Given the description of an element on the screen output the (x, y) to click on. 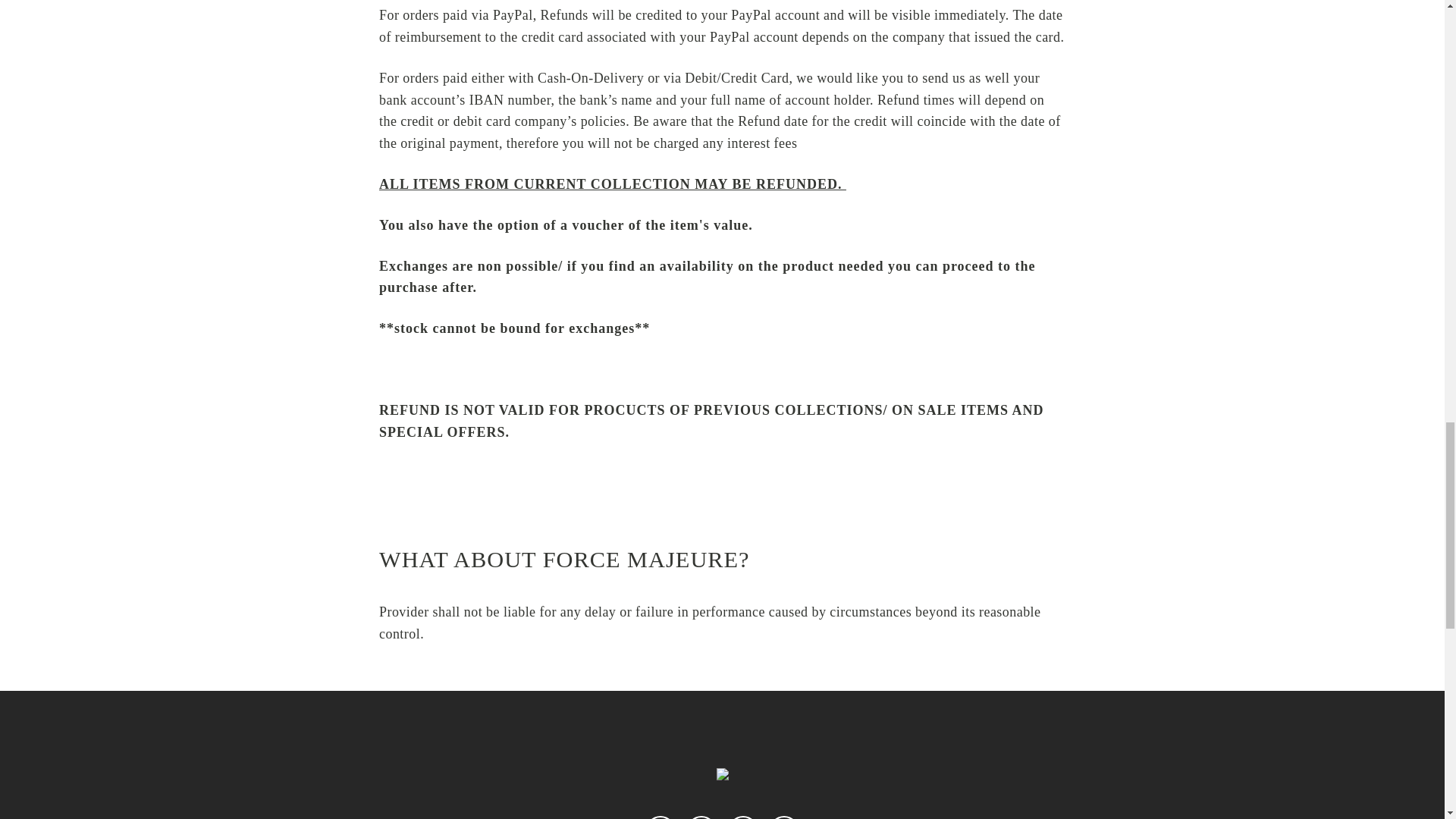
Dante Men  on Instagram (660, 817)
Dante Men  on TikTok (743, 817)
Dante Men  on YouTube (783, 817)
Dante Men  on Facebook (700, 817)
